Given the description of an element on the screen output the (x, y) to click on. 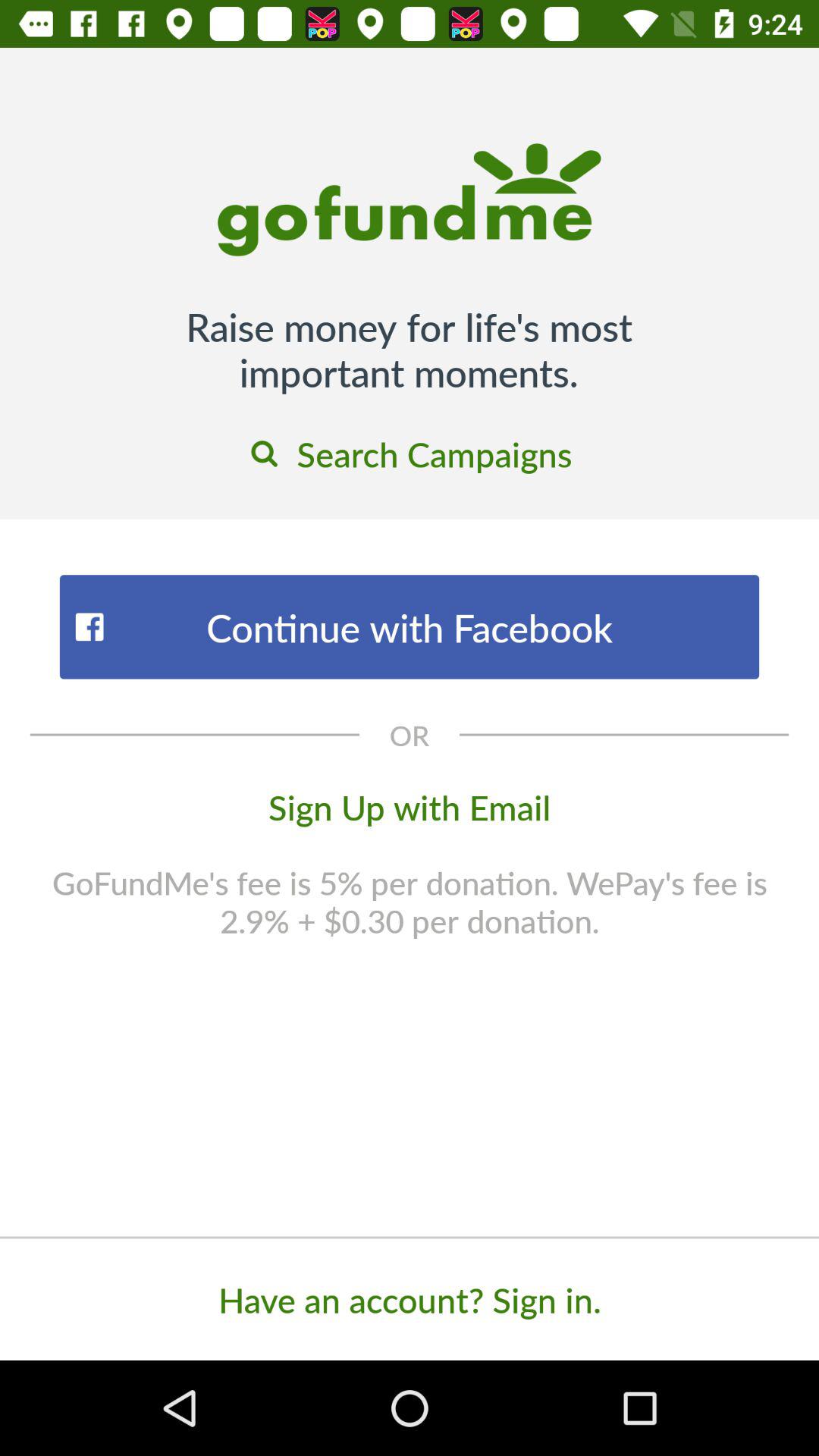
jump until have an account icon (409, 1299)
